Given the description of an element on the screen output the (x, y) to click on. 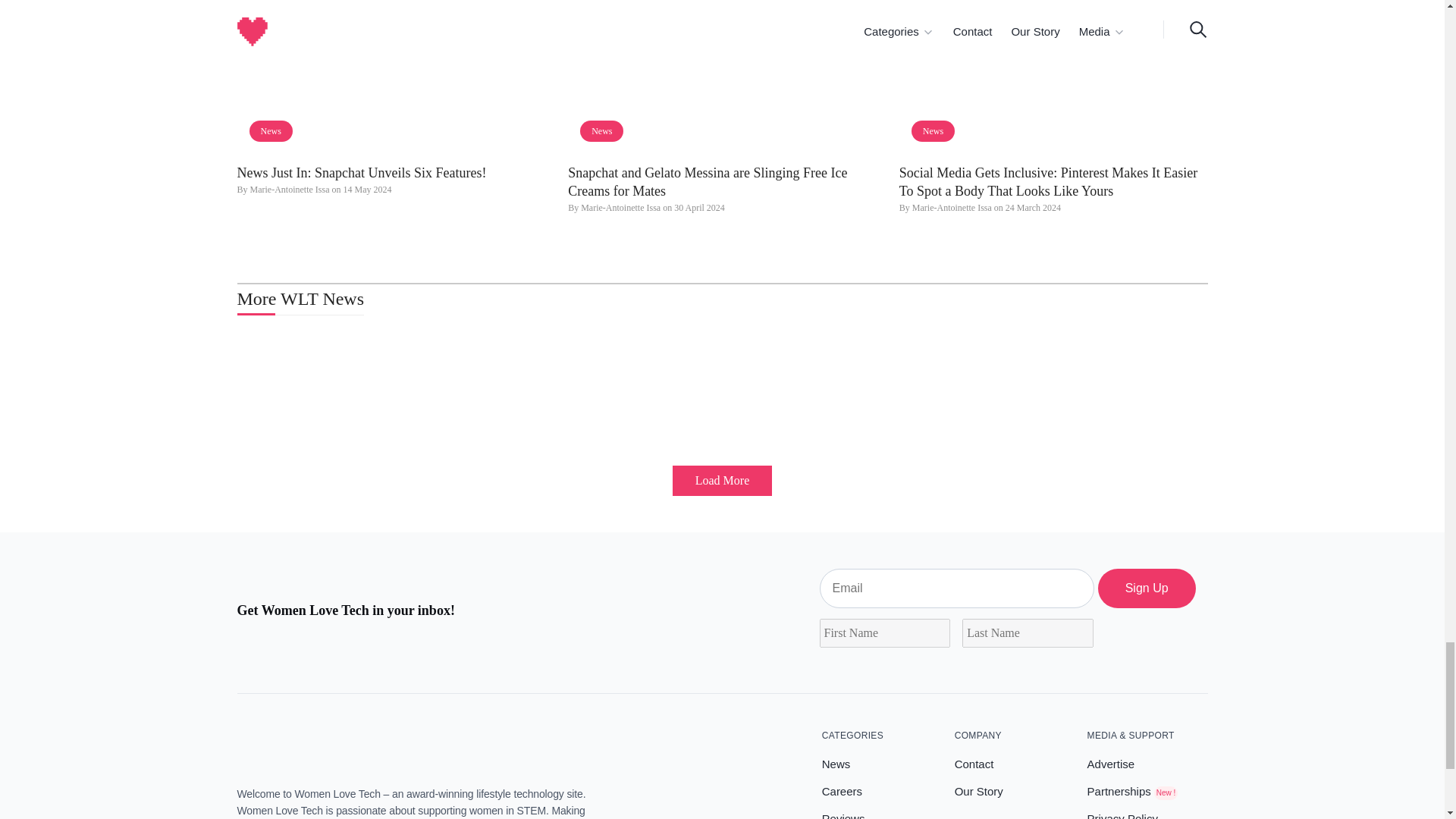
Sign Up (1146, 588)
